Given the description of an element on the screen output the (x, y) to click on. 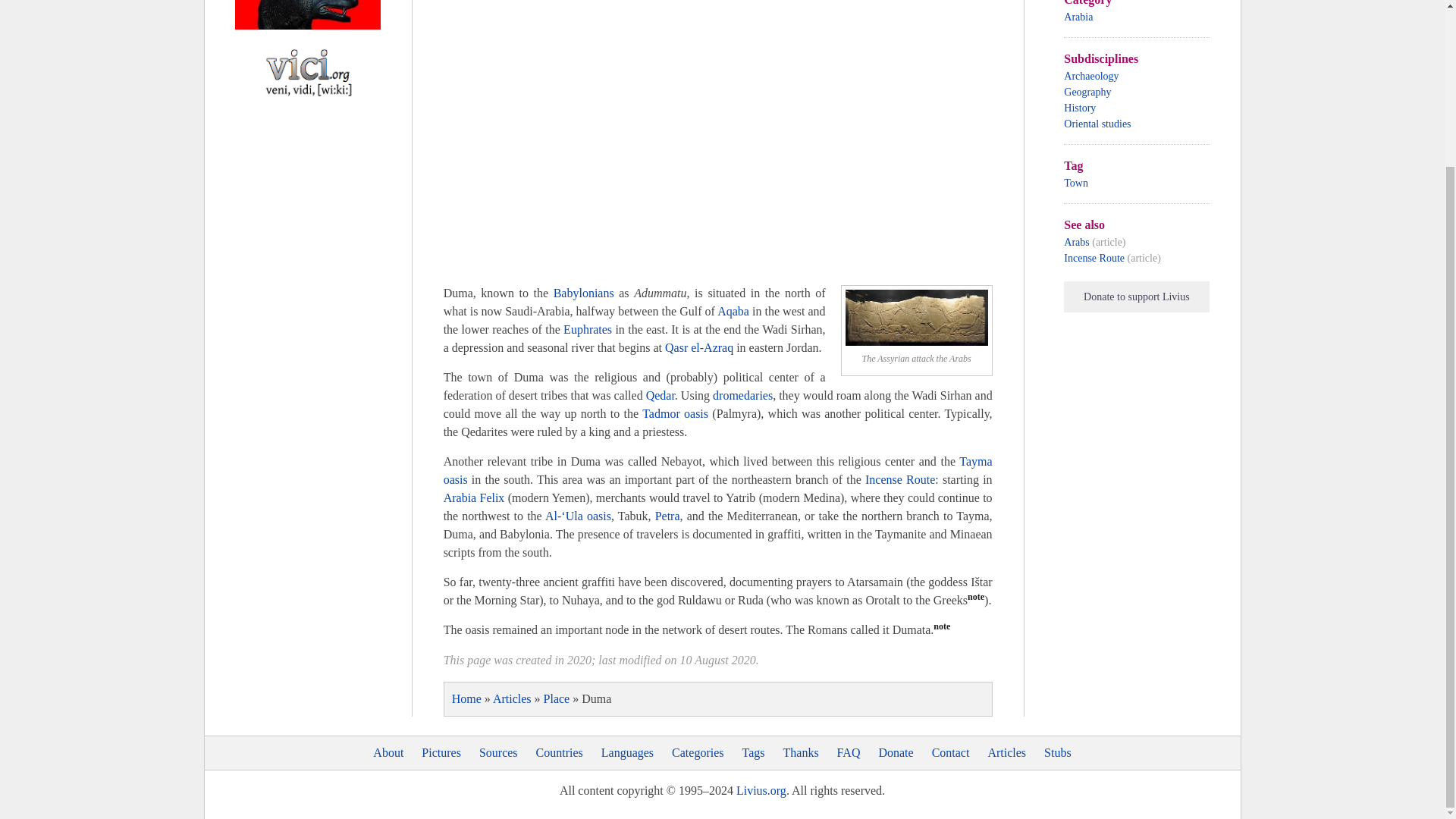
Arabia Felix (474, 497)
Home (466, 698)
Incense Route (899, 479)
Babylonians (583, 292)
Aqaba (733, 310)
Click to toggle note (941, 629)
Tadmor oasis (674, 413)
Articles (512, 698)
dromedaries (743, 395)
Qasr el-Azraq (699, 347)
